Given the description of an element on the screen output the (x, y) to click on. 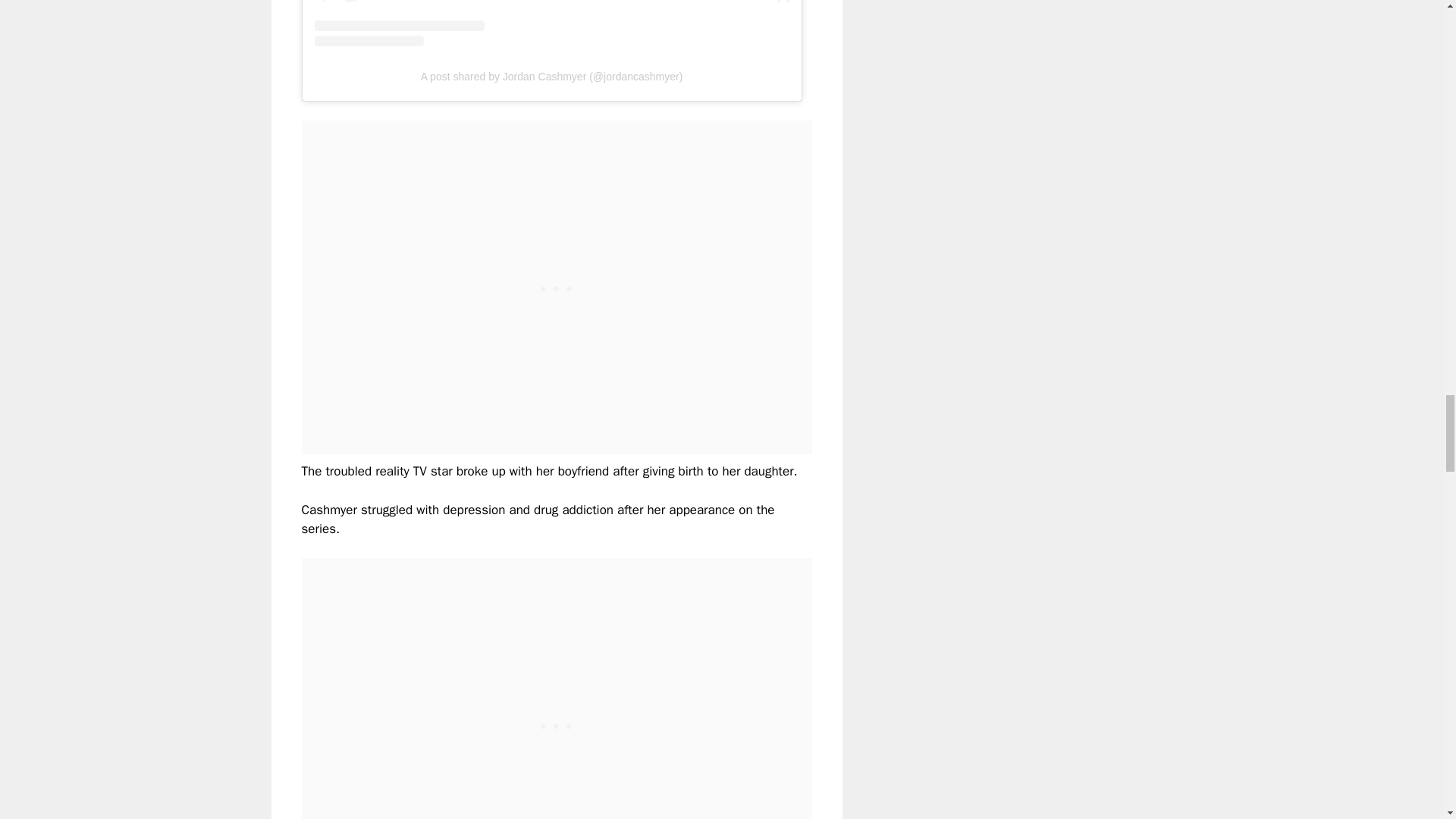
View this post on Instagram (551, 23)
